Given the description of an element on the screen output the (x, y) to click on. 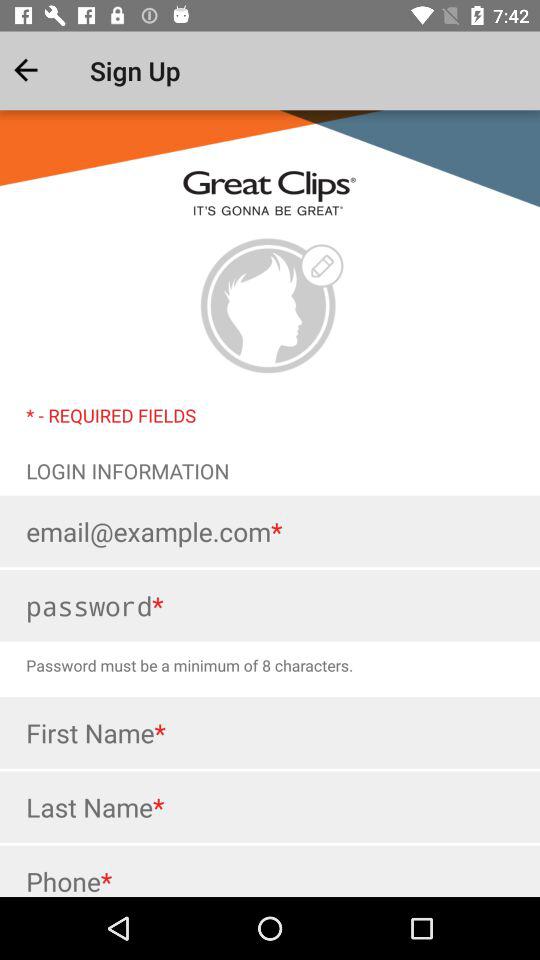
field for last name (269, 807)
